Given the description of an element on the screen output the (x, y) to click on. 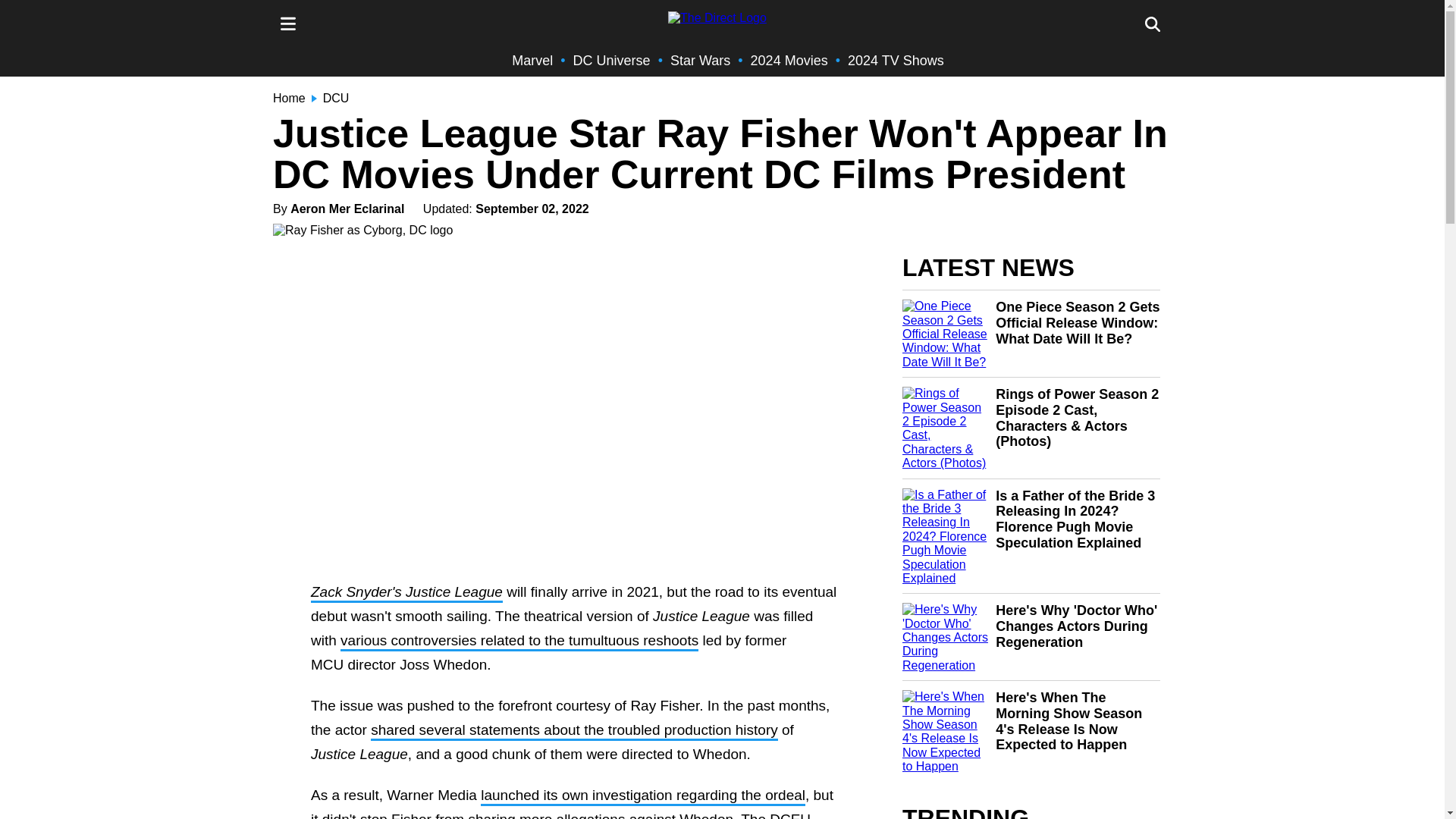
DC Universe (611, 60)
2024 TV Shows (895, 60)
Marvel (532, 60)
2024 Movies (789, 60)
Star Wars (699, 60)
